Given the description of an element on the screen output the (x, y) to click on. 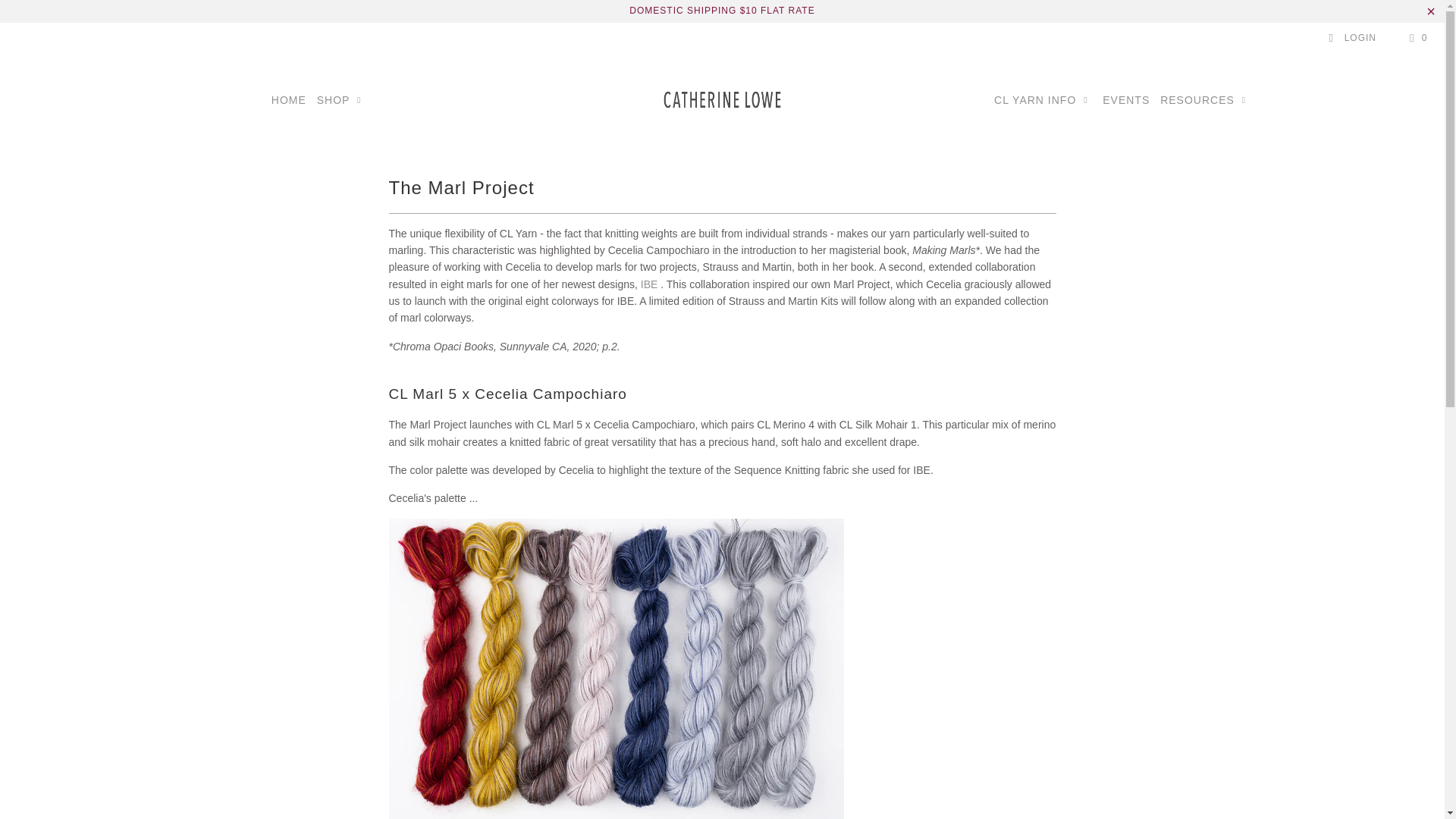
Catherine Lowe (722, 100)
My Account  (1351, 37)
